Given the description of an element on the screen output the (x, y) to click on. 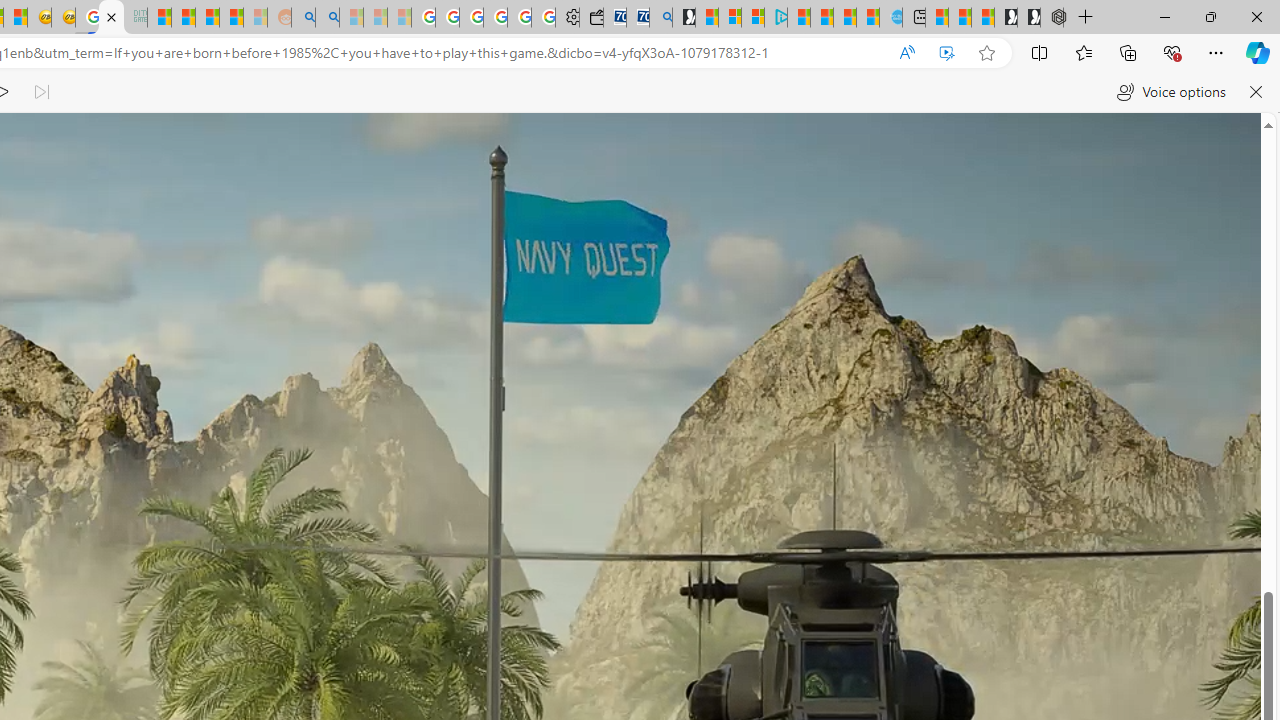
Close read aloud (1255, 92)
Voice options (1170, 92)
